Given the description of an element on the screen output the (x, y) to click on. 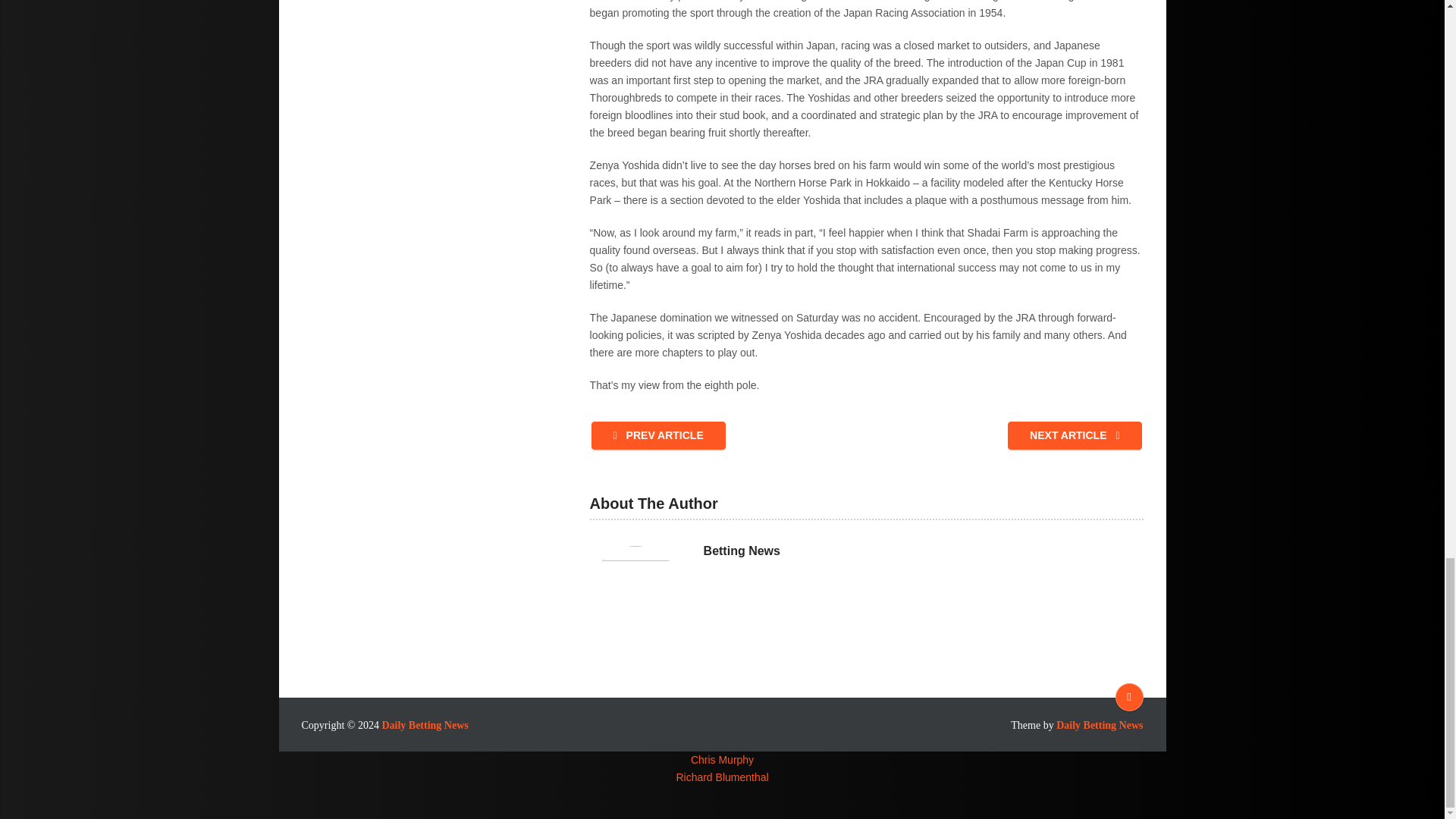
Daily Betting News (424, 725)
NEXT ARTICLE (1074, 435)
Daily Betting News (1099, 725)
Betting News (741, 550)
Chris Murphy (722, 759)
Richard Blumenthal (721, 776)
PREV ARTICLE (658, 435)
